Given the description of an element on the screen output the (x, y) to click on. 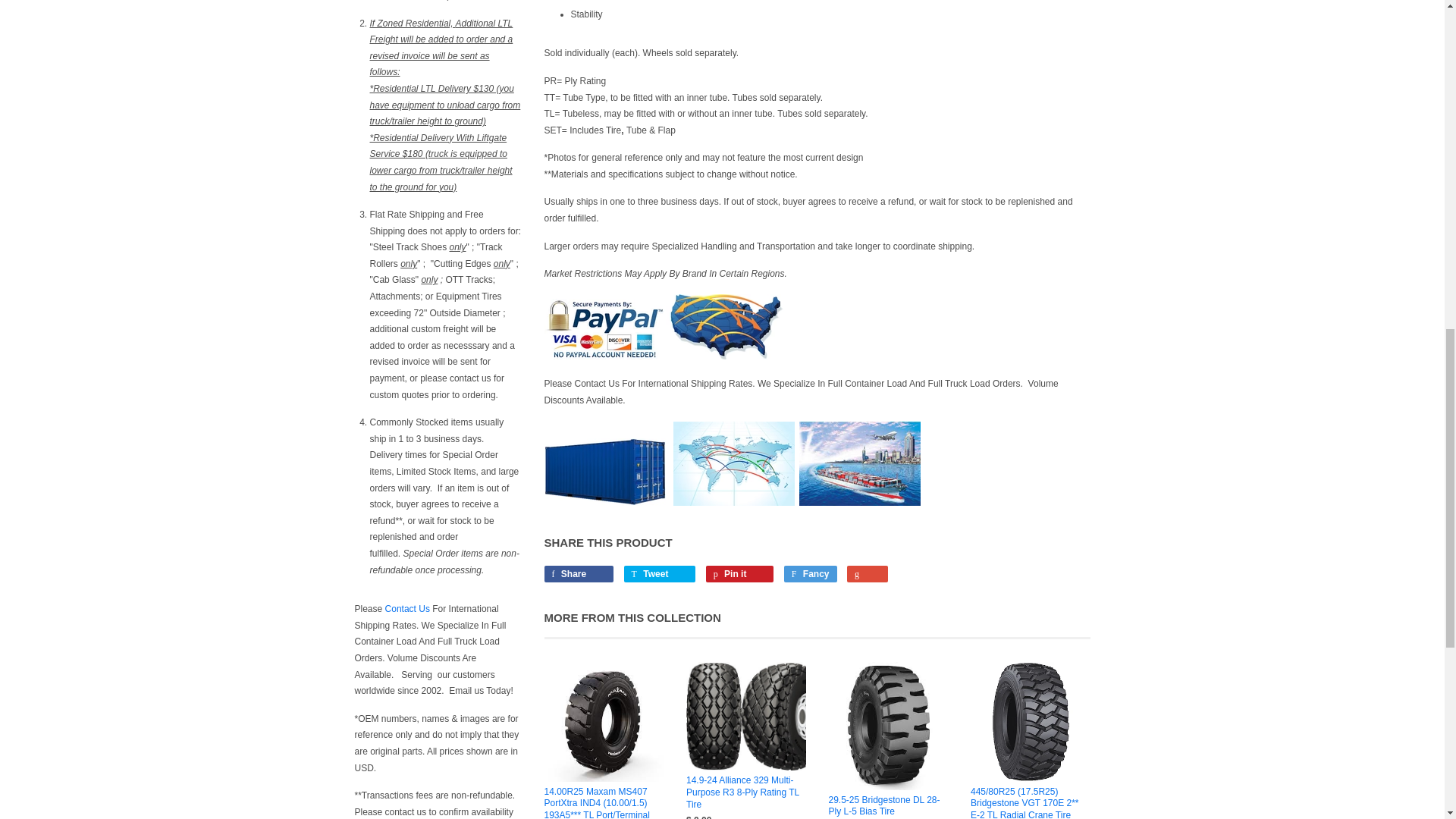
Contact BoltzEquipmentParts.com (407, 608)
